Given the description of an element on the screen output the (x, y) to click on. 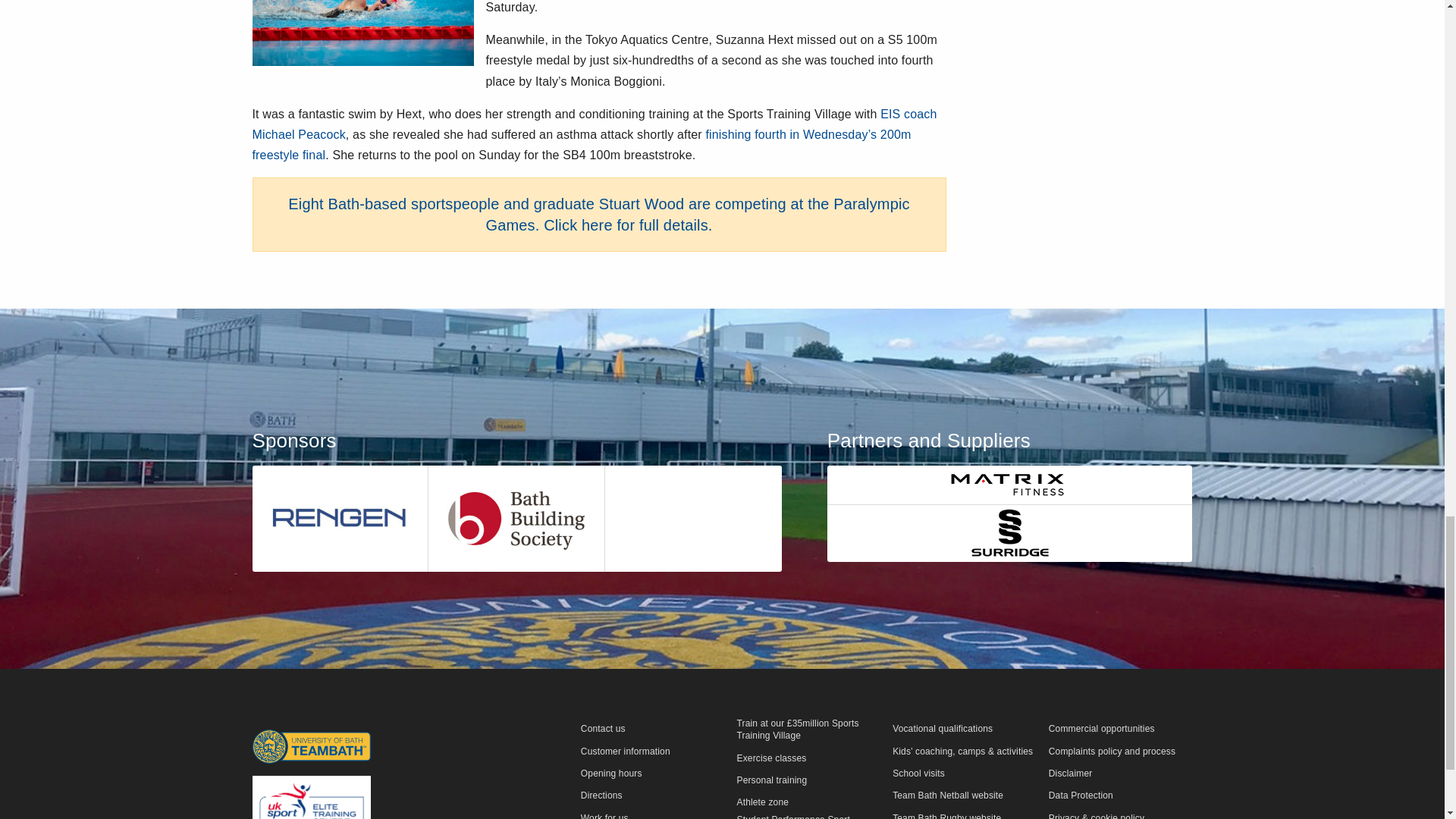
EIS coach Michael Peacock (593, 123)
